Given the description of an element on the screen output the (x, y) to click on. 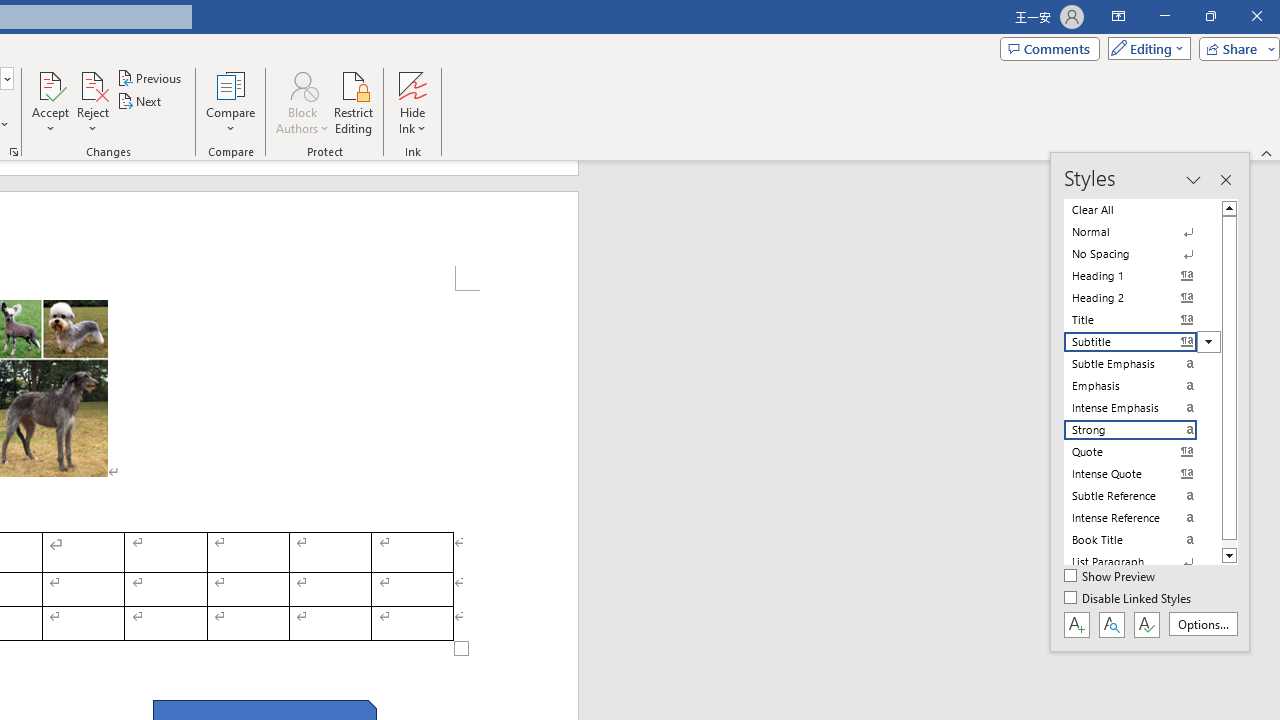
Reject and Move to Next (92, 84)
Accept and Move to Next (50, 84)
Reject (92, 102)
Strong (1142, 429)
Subtle Reference (1142, 495)
Book Title (1142, 539)
Restrict Editing (353, 102)
Block Authors (302, 102)
Next (140, 101)
